Given the description of an element on the screen output the (x, y) to click on. 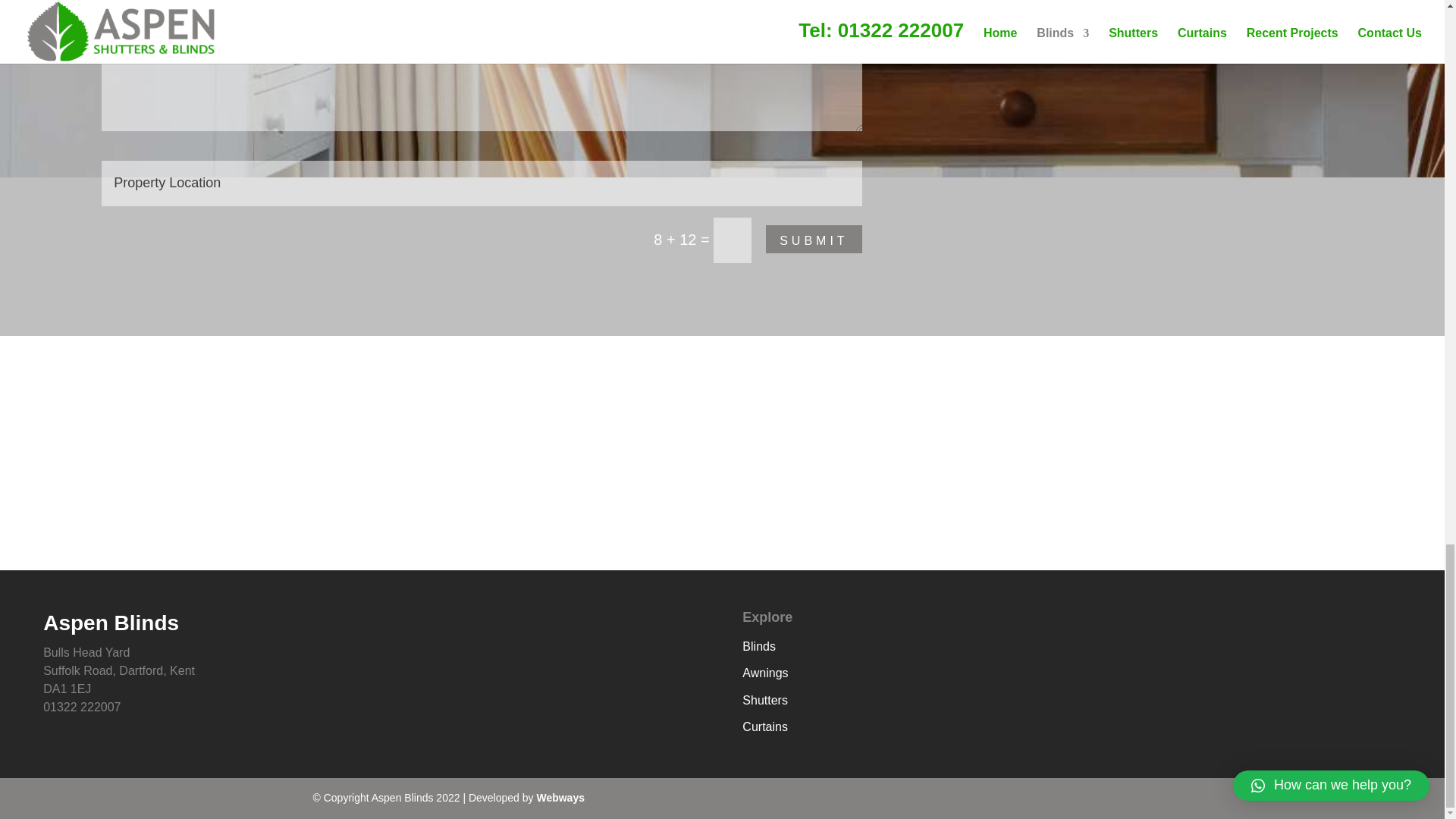
Webways (560, 797)
Shutters (764, 699)
Curtains (764, 726)
Blinds (759, 645)
SUBMIT (813, 239)
Awnings (764, 672)
